Given the description of an element on the screen output the (x, y) to click on. 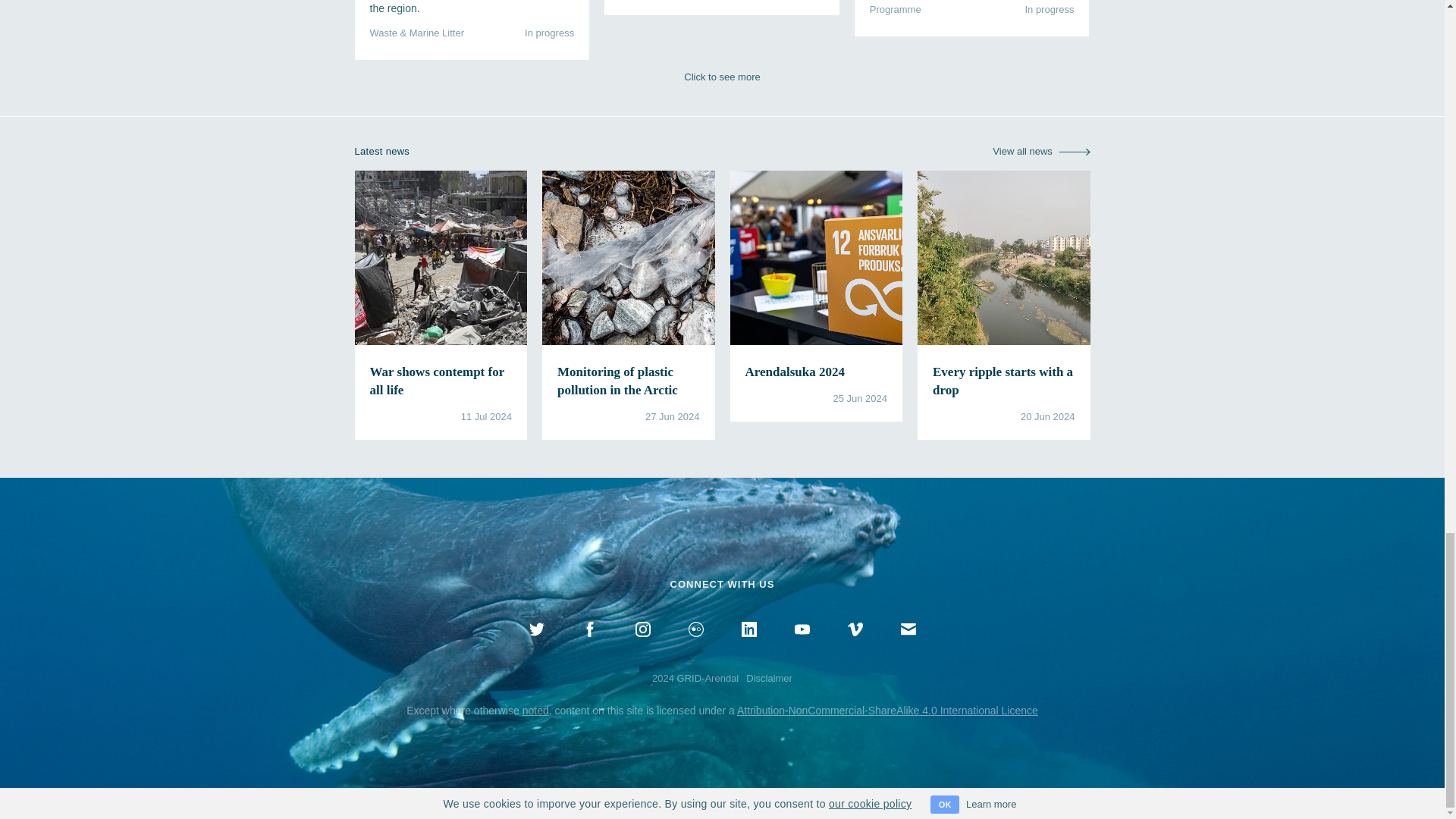
Click to see more (722, 77)
LinkedIn (748, 646)
View all news (1040, 151)
Youtube (801, 646)
Flickr (695, 646)
Email (907, 646)
Vimeo (854, 646)
Twitter (535, 646)
Facebook (588, 646)
Instagram (641, 646)
